Given the description of an element on the screen output the (x, y) to click on. 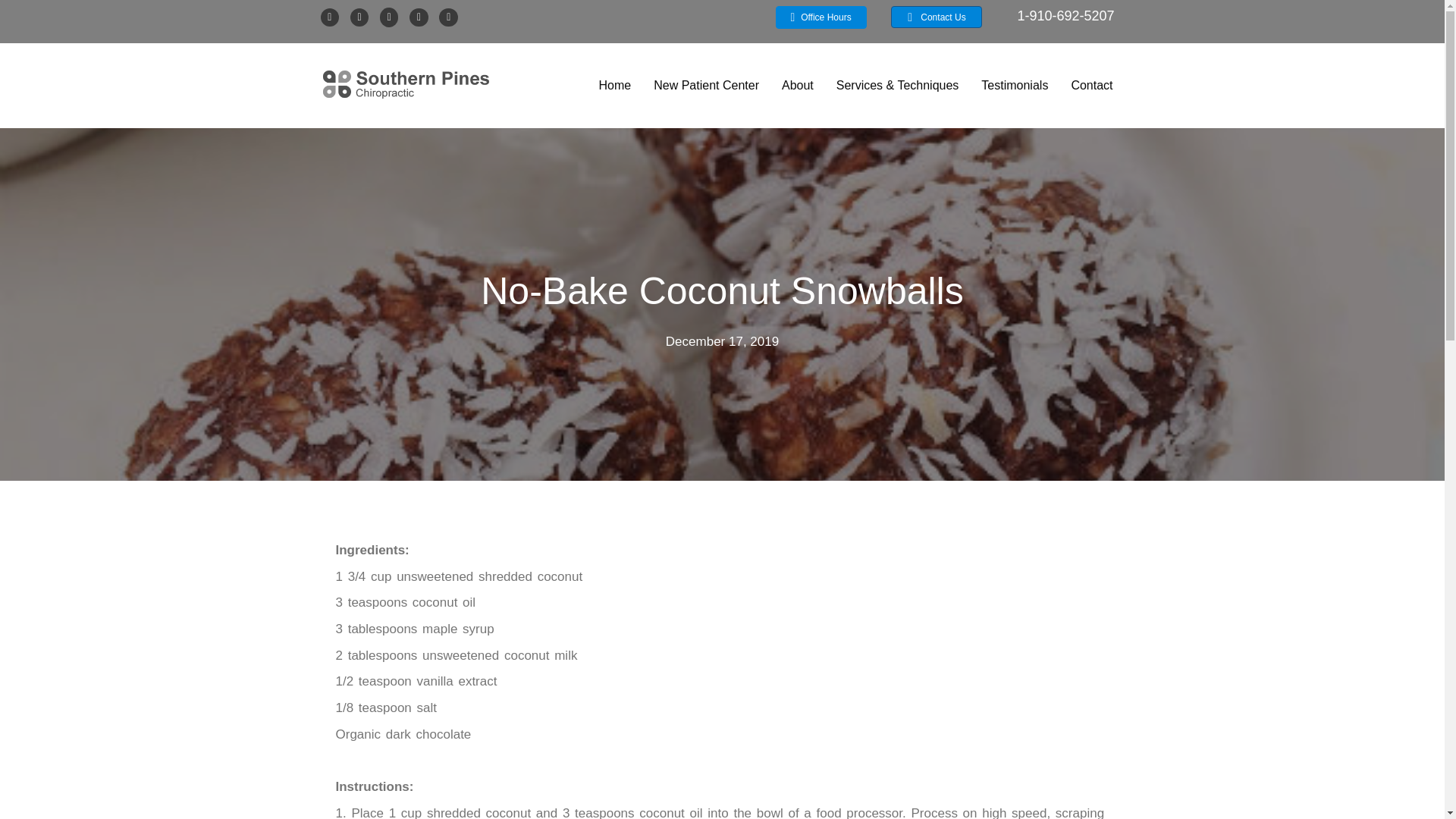
New Patient Center (706, 85)
Click Here (821, 16)
Home (615, 85)
Testimonials (1014, 85)
Office Hours (821, 16)
About (797, 85)
Contact Us (936, 16)
Contact (1090, 85)
